Given the description of an element on the screen output the (x, y) to click on. 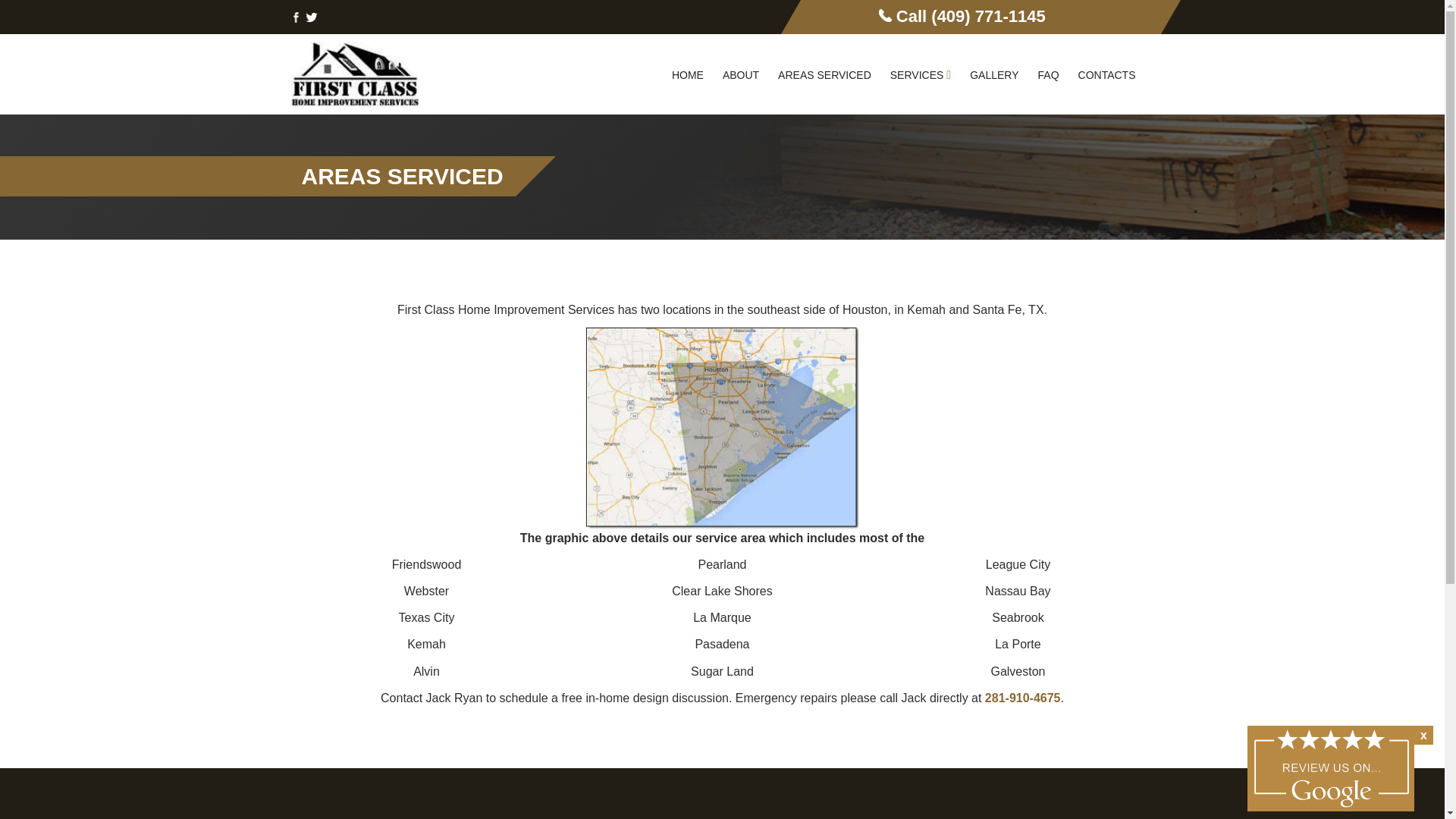
GALLERY (994, 73)
SERVICES (920, 73)
AREAS SERVICED (824, 73)
281-910-4675 (1023, 697)
CONTACTS (1106, 73)
ABOUT (740, 73)
